Given the description of an element on the screen output the (x, y) to click on. 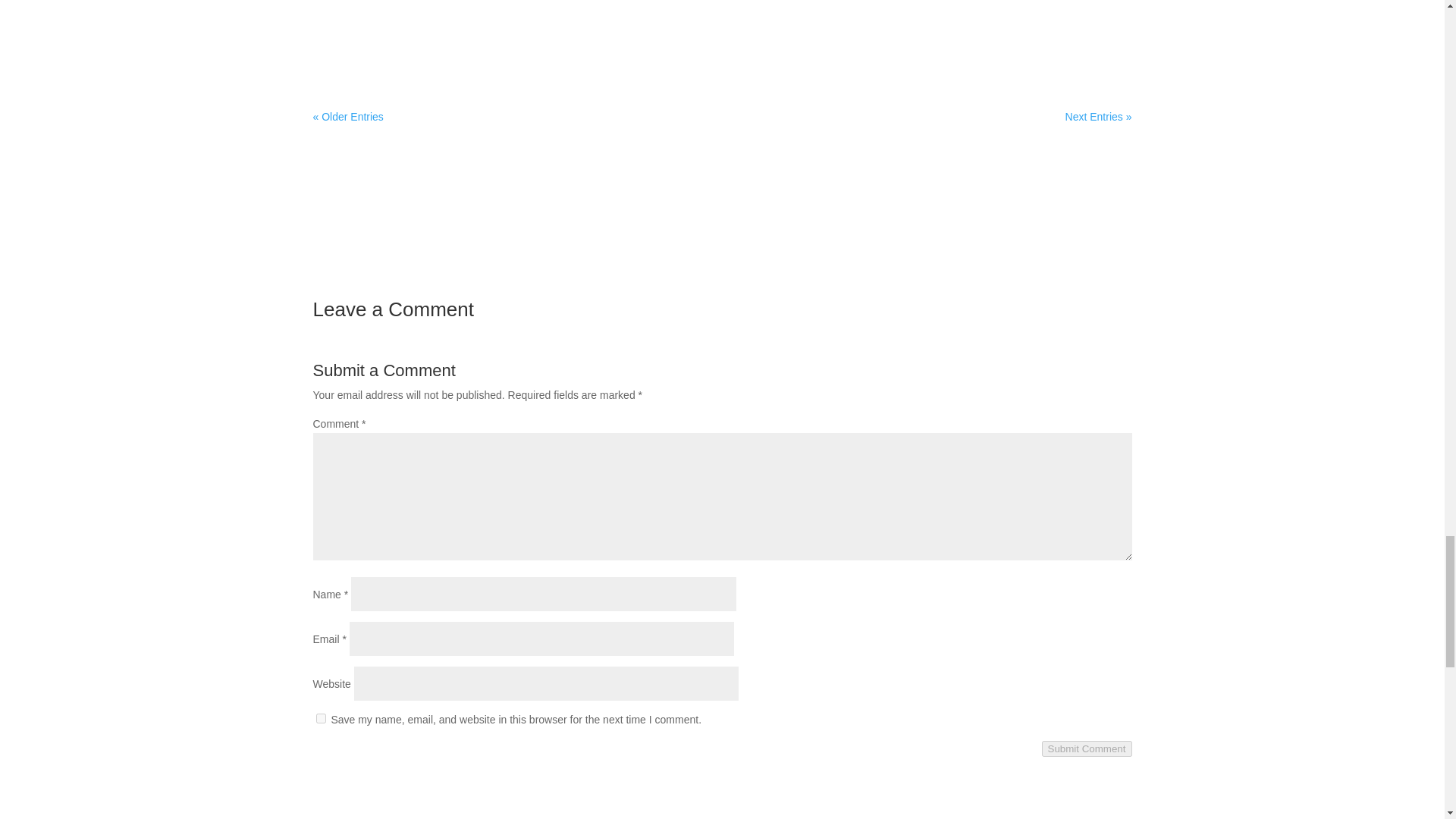
yes (319, 718)
